Given the description of an element on the screen output the (x, y) to click on. 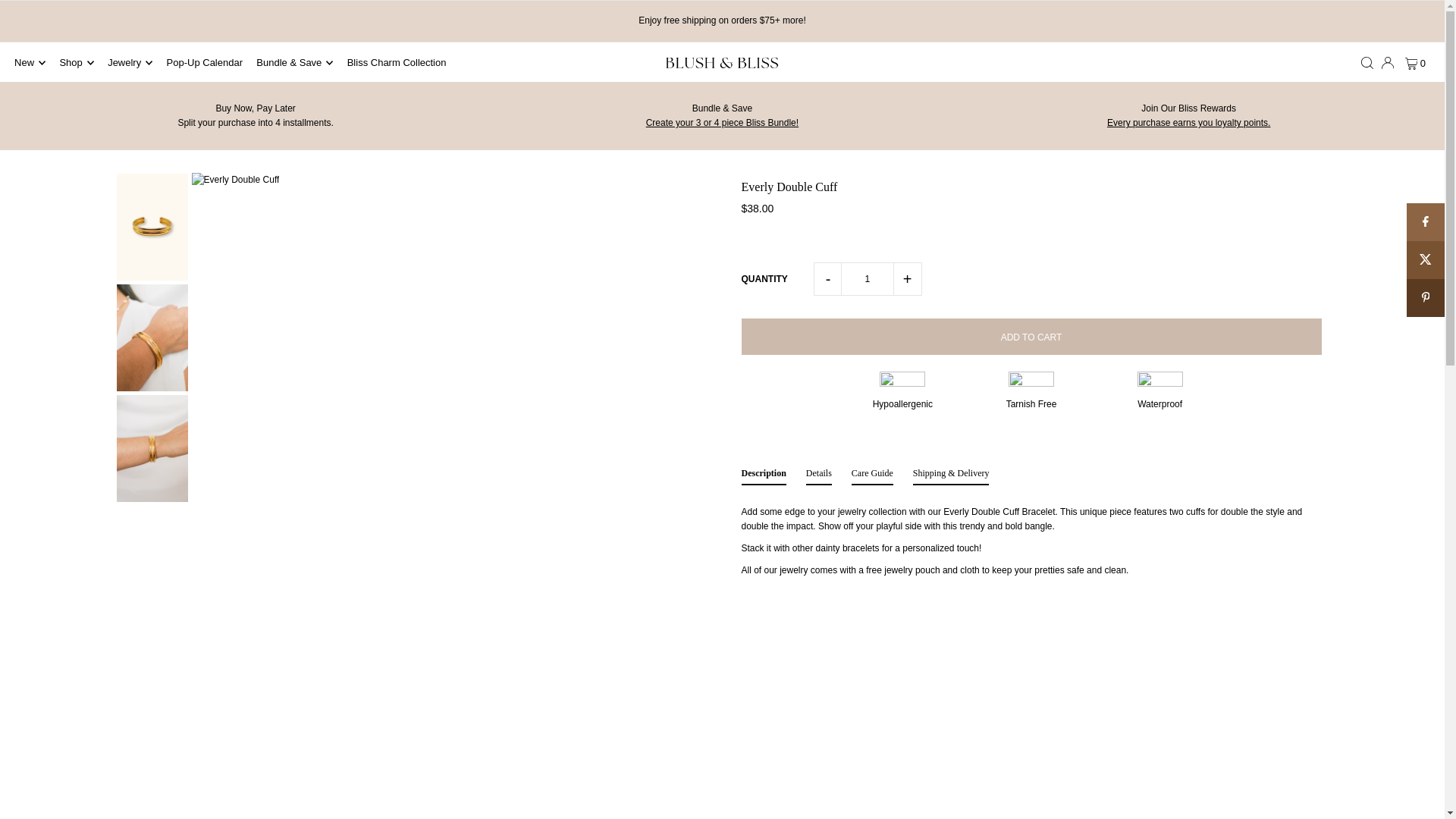
Add to Cart (1031, 336)
1 (254, 115)
Cart (867, 278)
